Given the description of an element on the screen output the (x, y) to click on. 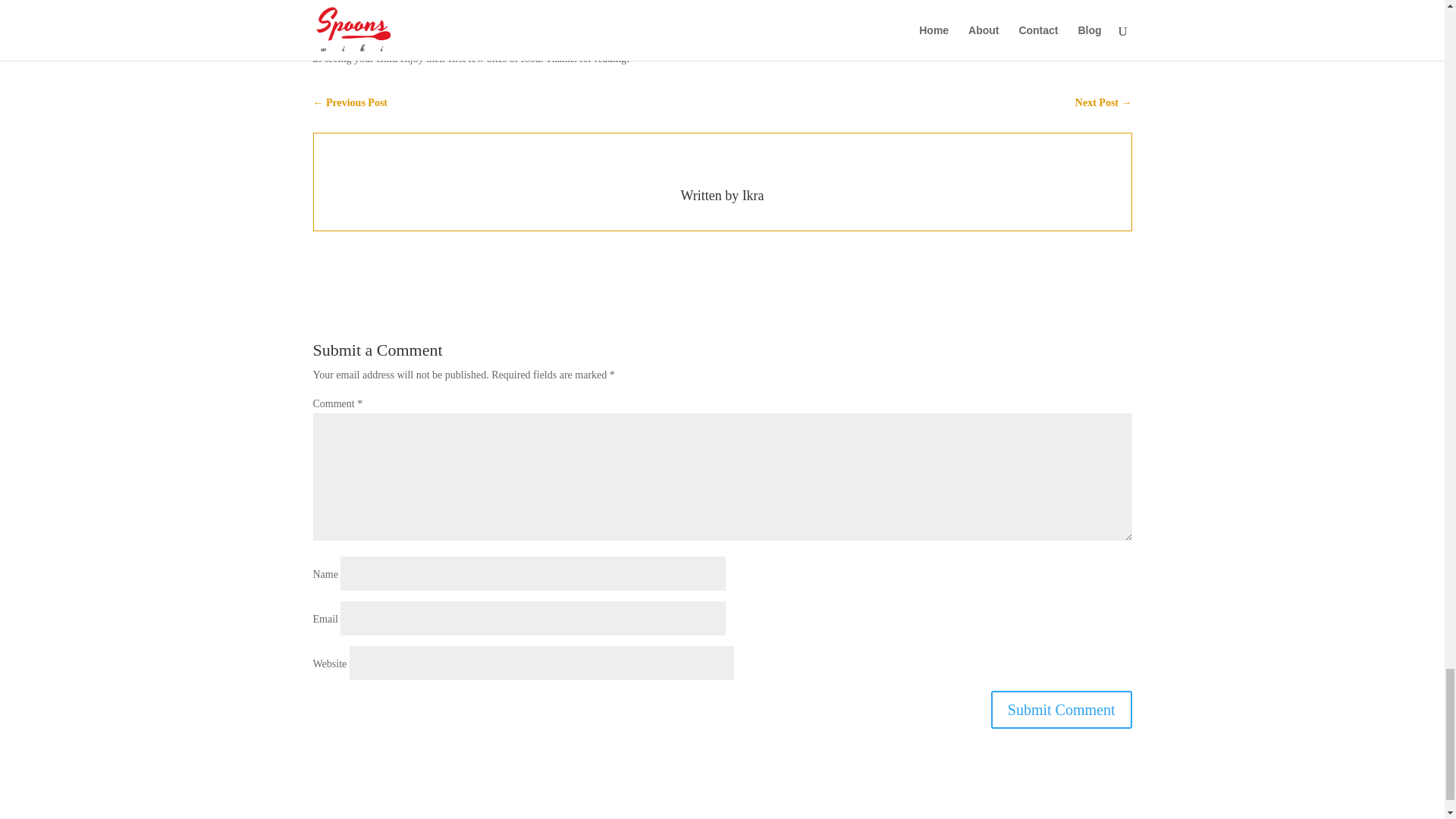
Submit Comment (1061, 709)
Submit Comment (1061, 709)
